Given the description of an element on the screen output the (x, y) to click on. 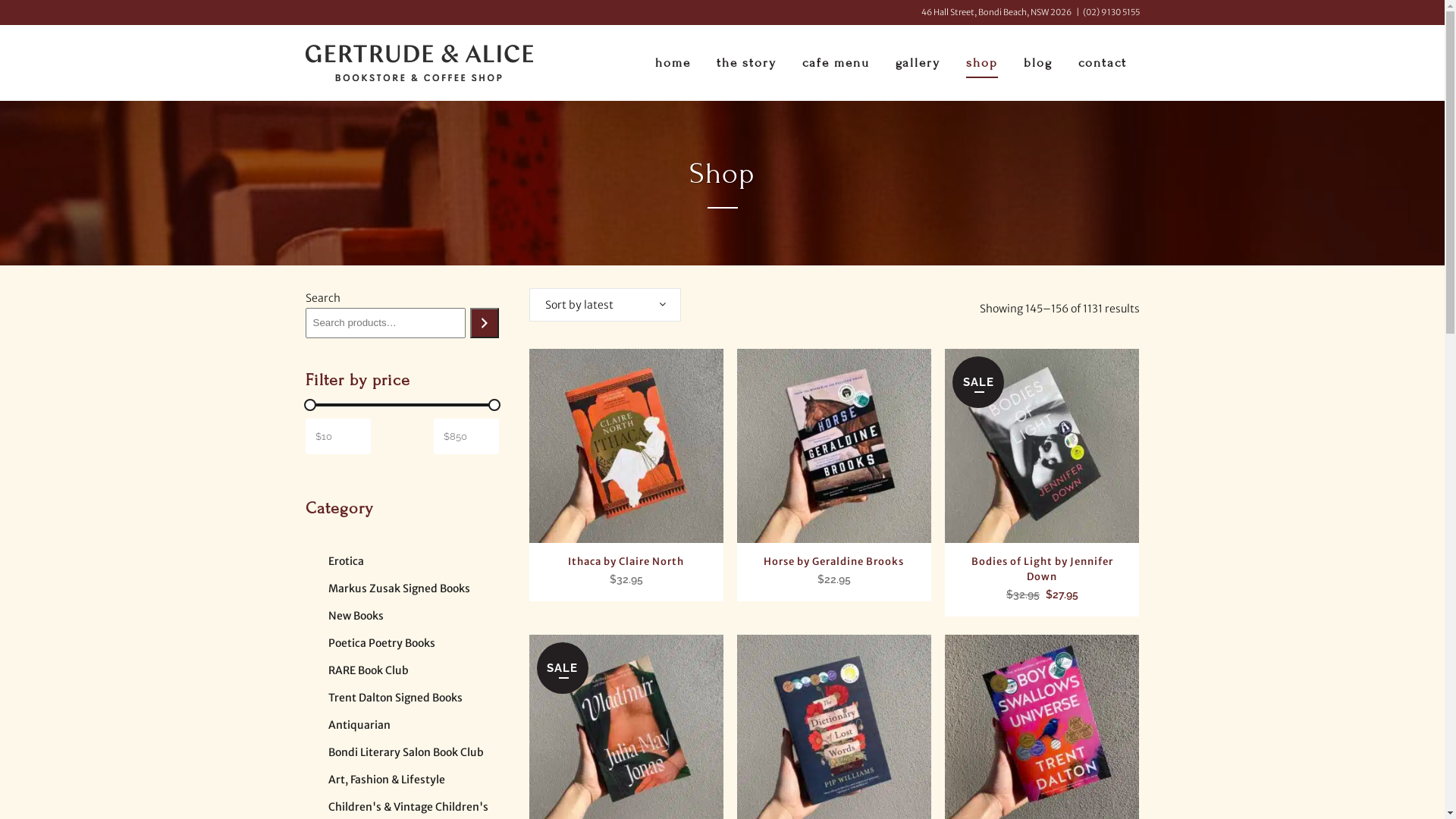
New Books Element type: text (354, 615)
home Element type: text (671, 62)
shop Element type: text (981, 62)
Antiquarian Element type: text (358, 724)
Horse by Geraldine Brooks
$22.95 Element type: text (834, 565)
blog Element type: text (1037, 62)
Markus Zusak Signed Books Element type: text (398, 588)
Poetica Poetry Books Element type: text (380, 642)
contact Element type: text (1101, 62)
RARE Book Club Element type: text (367, 670)
Bodies of Light by Jennifer Down
$32.95 $27.95 Element type: text (1041, 573)
Art, Fashion & Lifestyle Element type: text (385, 779)
Ithaca by Claire North
$32.95 Element type: text (626, 565)
gallery Element type: text (917, 62)
Erotica Element type: text (345, 560)
the story Element type: text (746, 62)
cafe menu Element type: text (834, 62)
SALE Element type: text (1041, 445)
Bondi Literary Salon Book Club Element type: text (405, 752)
Trent Dalton Signed Books Element type: text (394, 697)
